Given the description of an element on the screen output the (x, y) to click on. 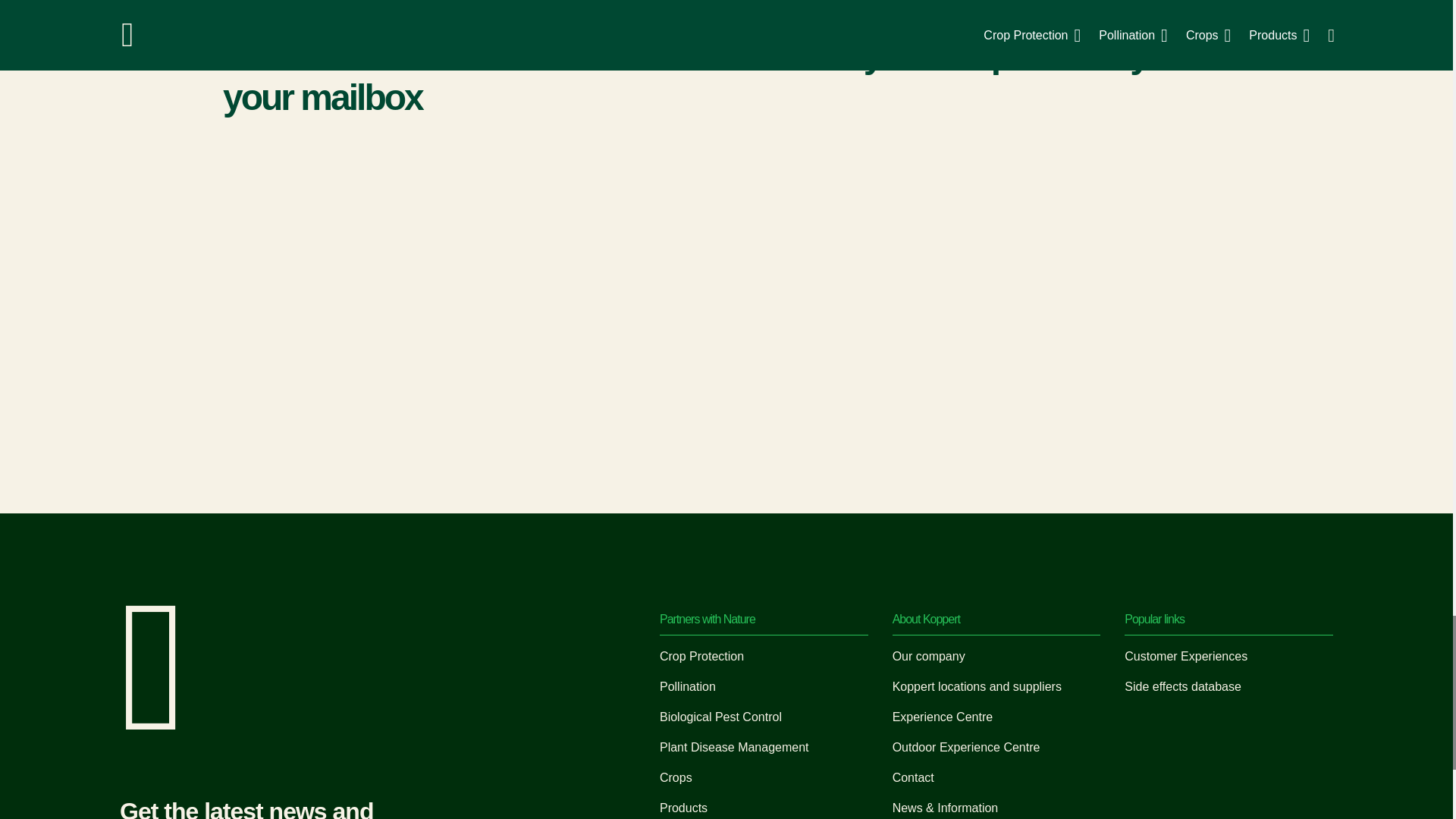
Koppert (153, 725)
Plant Disease Management (734, 747)
Crop Protection (701, 656)
Pollination (687, 686)
Biological Pest Control (720, 716)
Our company (928, 656)
Crops (676, 777)
Products (683, 807)
